Given the description of an element on the screen output the (x, y) to click on. 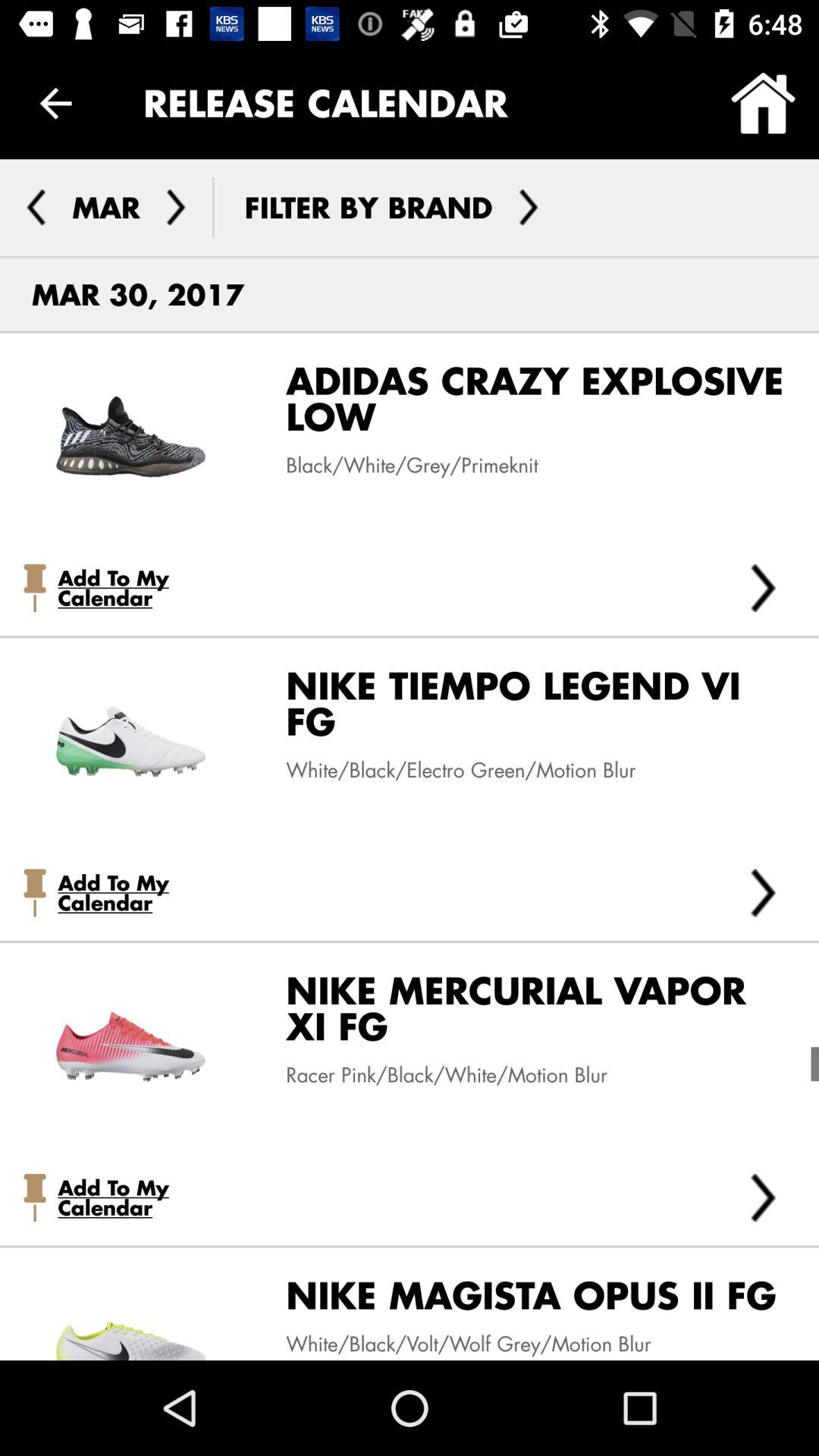
select the icon at the top right corner (763, 103)
